Given the description of an element on the screen output the (x, y) to click on. 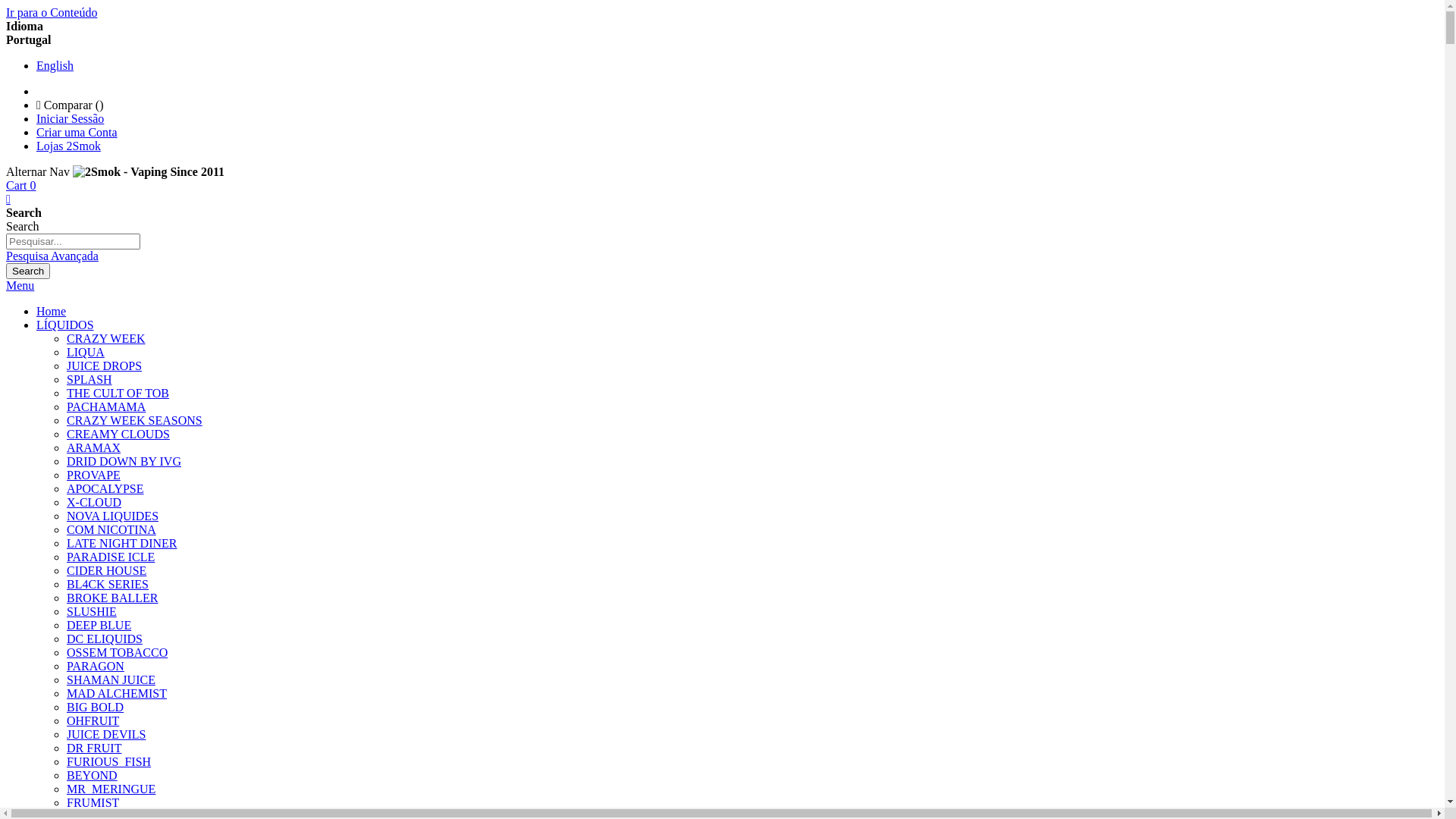
OHFRUIT Element type: text (92, 720)
SLUSHIE Element type: text (91, 611)
ARAMAX Element type: text (93, 447)
BL4CK SERIES Element type: text (107, 583)
MAD ALCHEMIST Element type: text (116, 693)
FRUMIST Element type: text (92, 802)
SHAMAN JUICE Element type: text (110, 679)
SPLASH Element type: text (89, 379)
THE CULT OF TOB Element type: text (117, 392)
Cart 0 Element type: text (21, 184)
Criar uma Conta Element type: text (76, 131)
My Wish List Element type: hover (8, 198)
LIQUA Element type: text (85, 351)
COM NICOTINA Element type: text (111, 529)
English Element type: text (54, 65)
CRAZY WEEK SEASONS Element type: text (134, 420)
DRID DOWN BY IVG Element type: text (123, 461)
DC ELIQUIDS Element type: text (104, 638)
DR FRUIT Element type: text (93, 747)
MR_MERINGUE Element type: text (110, 788)
PROVAPE Element type: text (93, 474)
BIG BOLD Element type: text (94, 706)
Home Element type: text (50, 310)
CREAMY CLOUDS Element type: text (117, 433)
CRAZY WEEK Element type: text (105, 338)
BROKE BALLER Element type: text (111, 597)
PACHAMAMA Element type: text (105, 406)
X-CLOUD Element type: text (93, 501)
Comparar () Element type: text (69, 104)
APOCALYPSE Element type: text (105, 488)
FURIOUS_FISH Element type: text (108, 761)
BEYOND Element type: text (91, 774)
OSSEM TOBACCO Element type: text (116, 652)
Lojas 2Smok Element type: text (68, 145)
JUICE DEVILS Element type: text (105, 734)
Menu Element type: text (20, 285)
LATE NIGHT DINER Element type: text (121, 542)
PARADISE ICLE Element type: text (110, 556)
NOVA LIQUIDES Element type: text (112, 515)
Search Element type: text (28, 271)
CIDER HOUSE Element type: text (106, 570)
JUICE DROPS Element type: text (103, 365)
DEEP BLUE Element type: text (98, 624)
PARAGON Element type: text (95, 665)
